Given the description of an element on the screen output the (x, y) to click on. 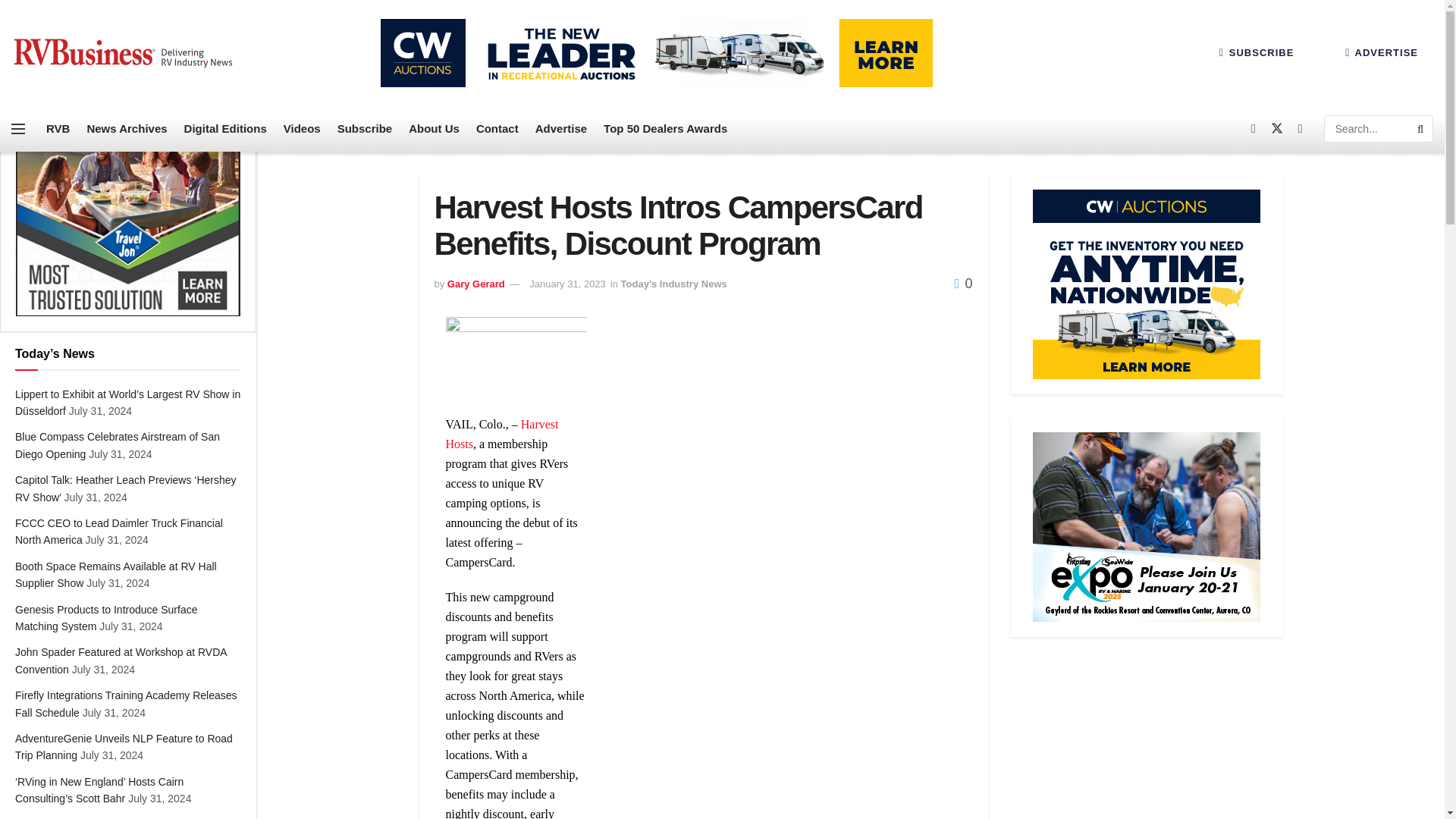
About Us (434, 128)
Advertise (560, 128)
Genesis Products to Introduce Surface Matching System (105, 617)
FCCC CEO to Lead Daimler Truck Financial North America (118, 531)
Subscribe (365, 128)
Top 50 Dealers Awards (665, 128)
Blue Compass Celebrates Airstream of San Diego Opening (116, 444)
ADVERTISE (1381, 52)
John Spader Featured at Workshop at RVDA Convention (120, 660)
SUBSCRIBE (1256, 52)
News Archives (126, 128)
Booth Space Remains Available at RV Hall Supplier Show (115, 574)
AdventureGenie Unveils NLP Feature to Road Trip Planning (123, 746)
Firefly Integrations Training Academy Releases Fall Schedule (125, 703)
Digital Editions (225, 128)
